Given the description of an element on the screen output the (x, y) to click on. 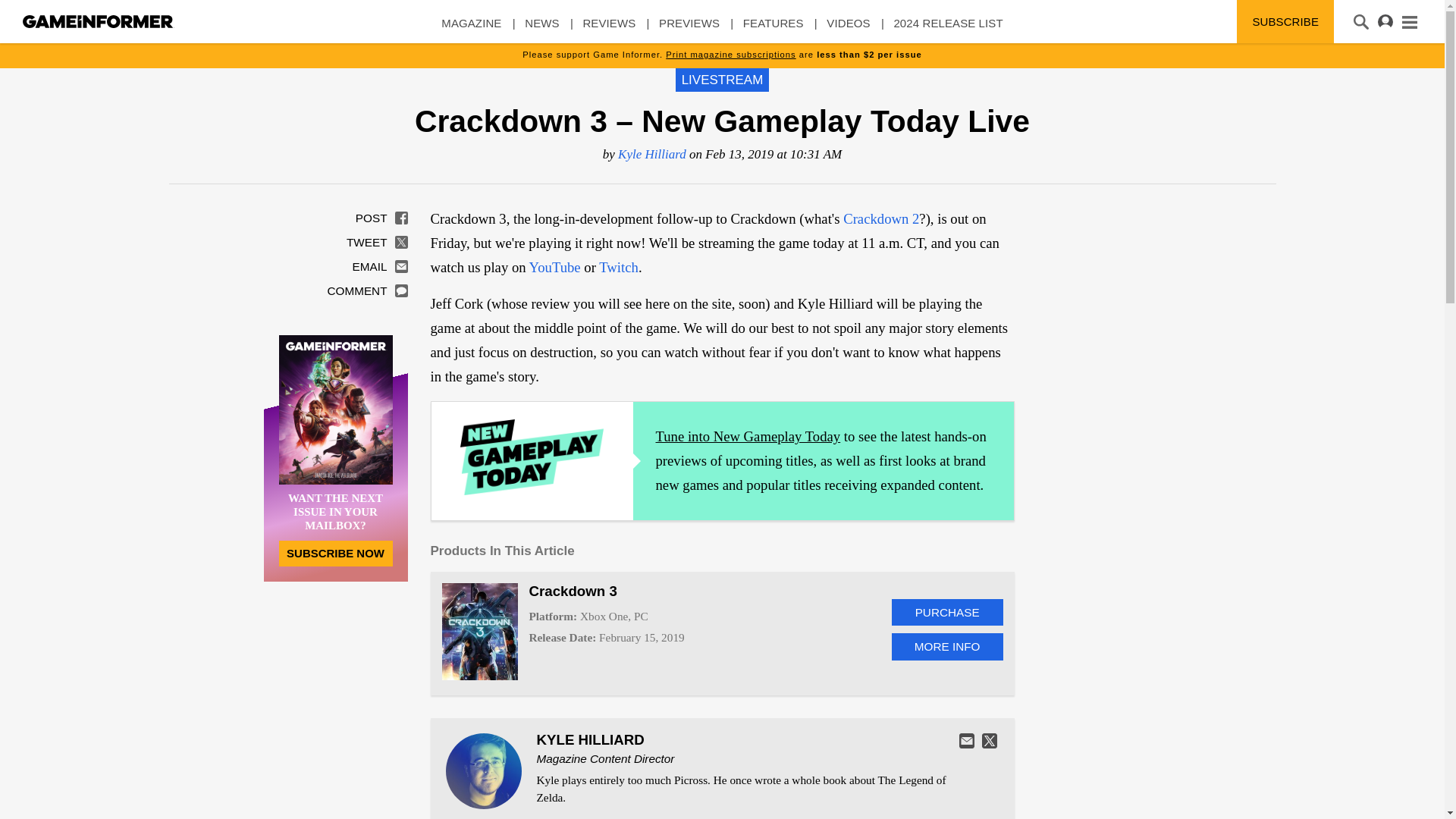
SUBSCRIBE (1284, 21)
FEATURES (772, 29)
2024 RELEASE LIST (948, 29)
Search (32, 13)
View user profile. (591, 739)
MAGAZINE (470, 29)
NEWS (541, 29)
REVIEWS (608, 29)
PREVIEWS (689, 29)
VIDEOS (848, 29)
